Given the description of an element on the screen output the (x, y) to click on. 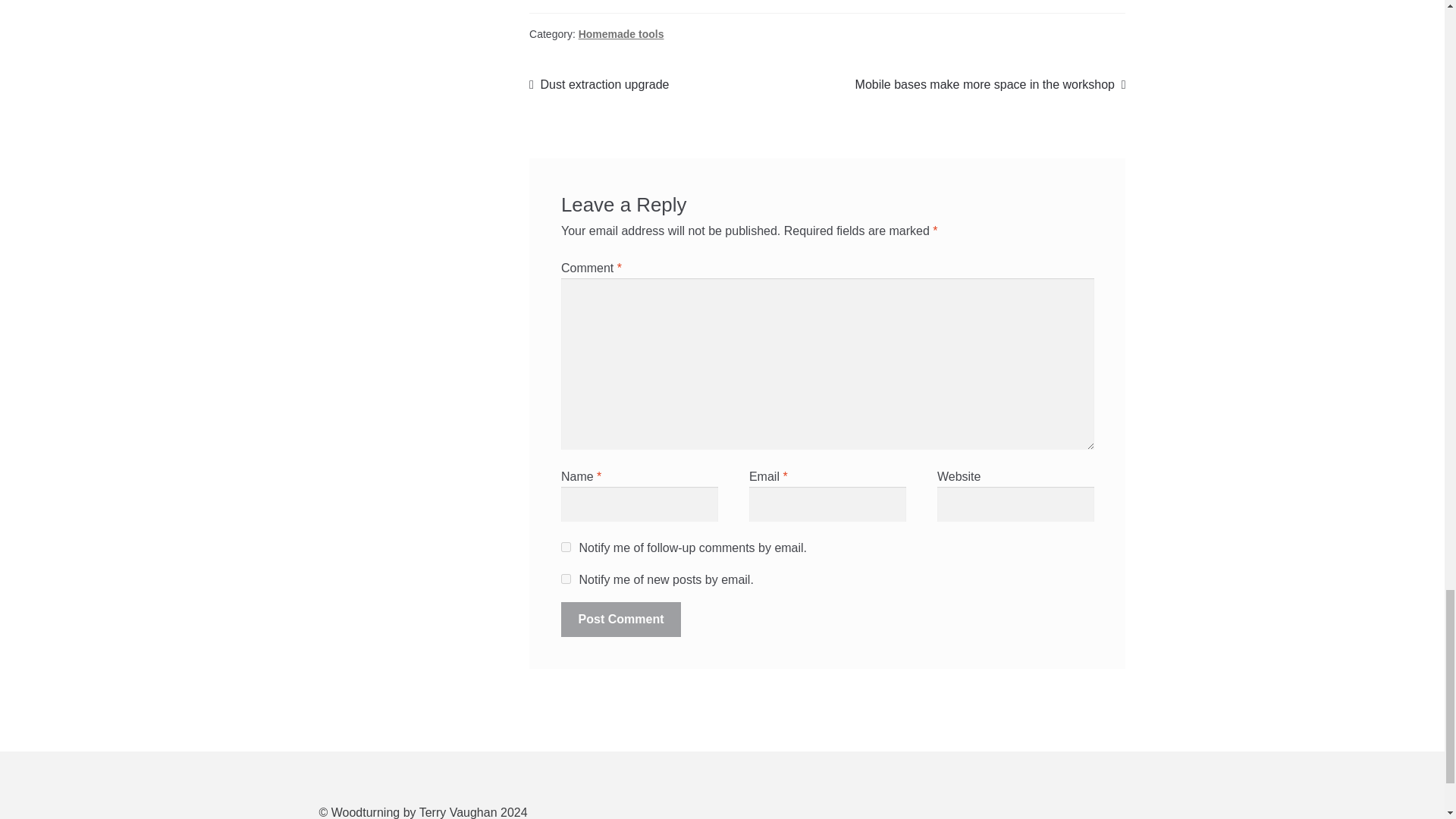
Homemade tools (620, 33)
Post Comment (620, 619)
subscribe (565, 578)
subscribe (598, 85)
